Given the description of an element on the screen output the (x, y) to click on. 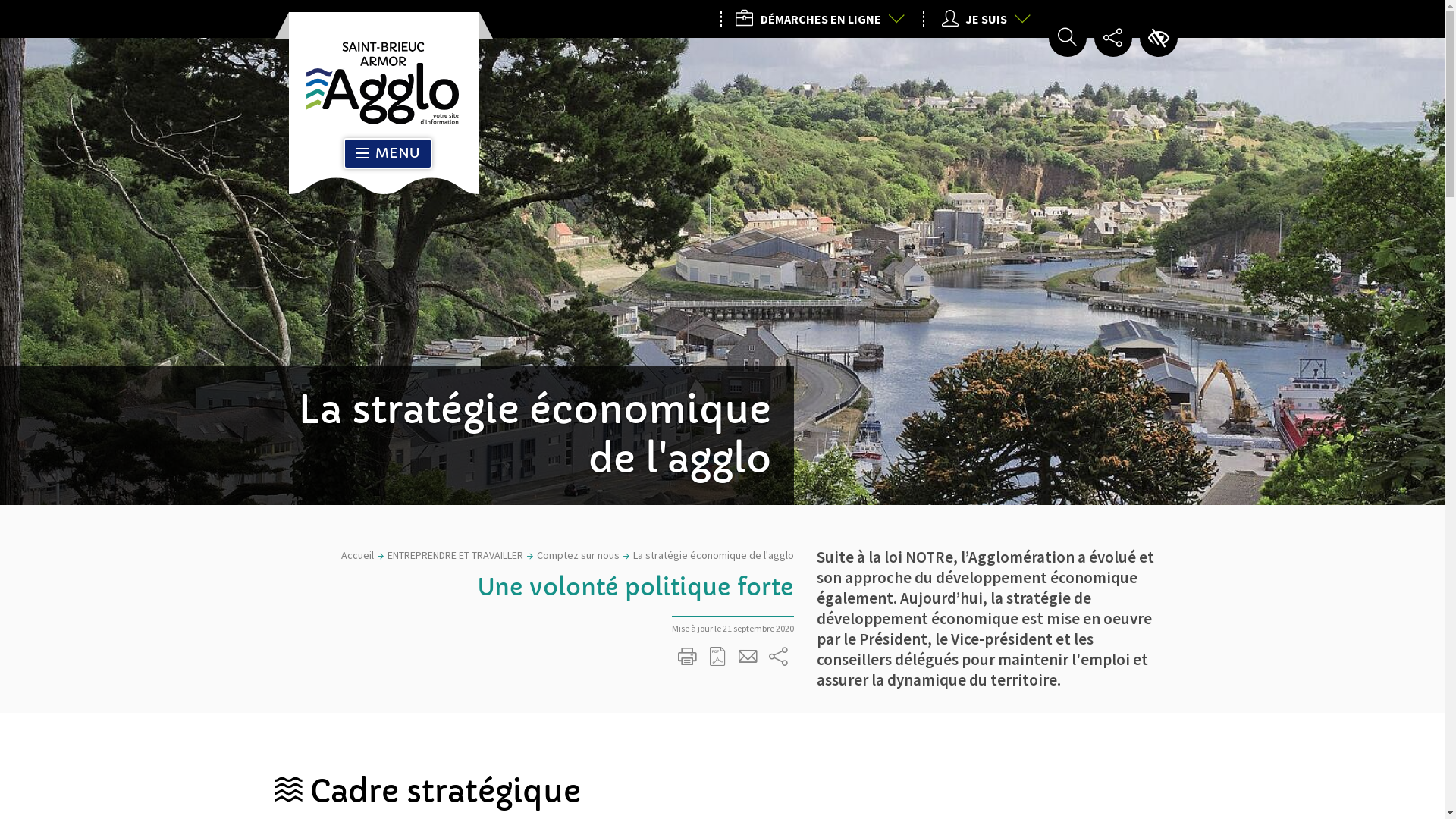
JE SUIS Element type: text (981, 18)
Imprimer/Exporter cette page  Element type: text (687, 656)
MENU Element type: text (386, 153)
Partager cette page par e-mail Element type: text (748, 656)
Partager sur Element type: text (778, 656)
Partager Element type: hover (1112, 37)
Rechercher Element type: hover (1066, 37)
ENTREPRENDRE ET TRAVAILLER Element type: text (455, 554)
Accueil Element type: text (357, 554)
Comptez sur nous Element type: text (577, 554)
Exporter la page au format PDF Element type: text (717, 656)
